Given the description of an element on the screen output the (x, y) to click on. 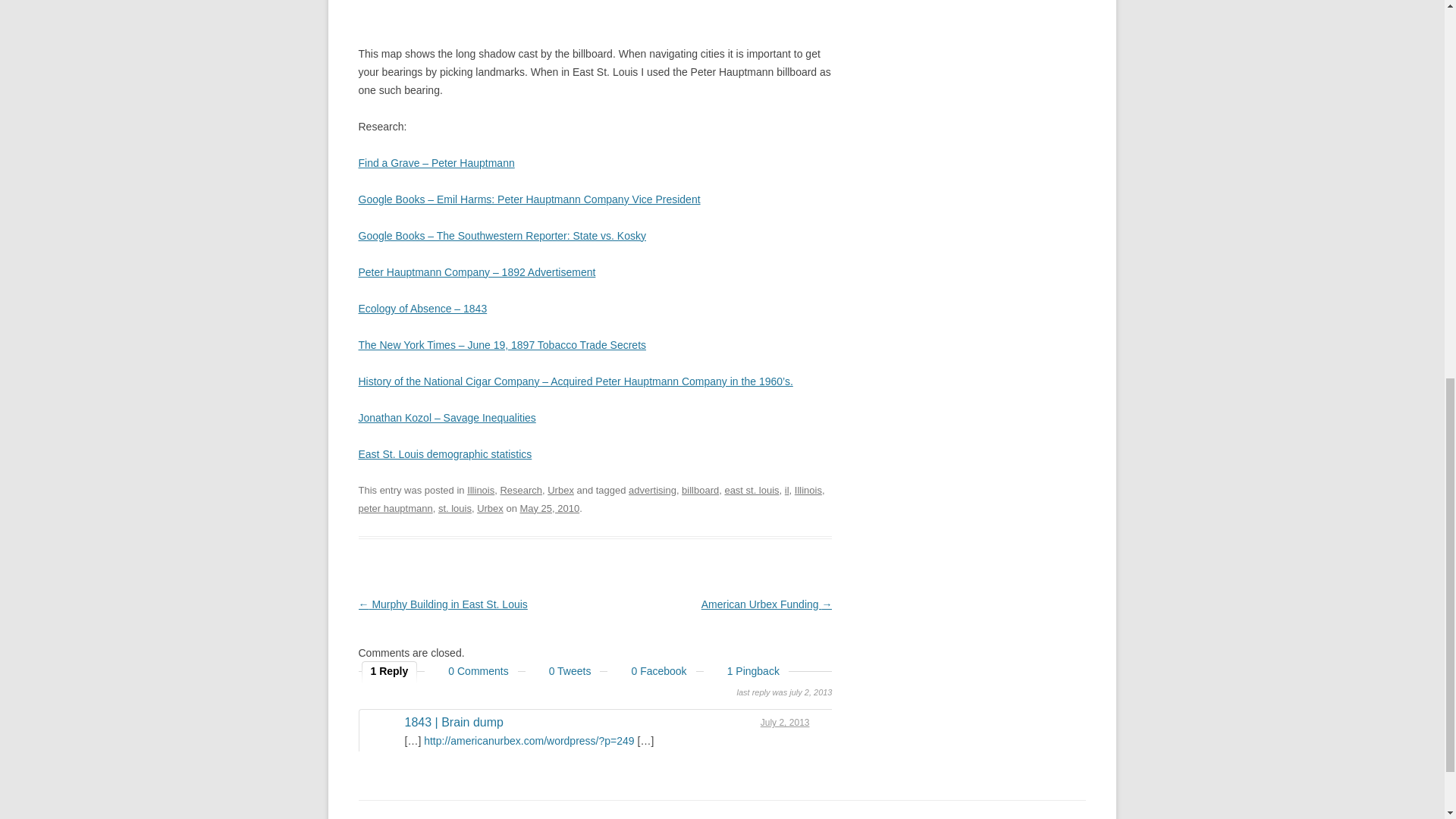
east st. louis (750, 490)
0 Comments (470, 671)
May 25, 2010 (549, 508)
7:35 am (549, 508)
East St. Louis demographic statistics (444, 453)
Illinois (481, 490)
billboard (700, 490)
1 Reply (390, 671)
Urbex (560, 490)
Illinois (808, 490)
0 Tweets (562, 671)
Urbex (490, 508)
st. louis (454, 508)
peter hauptmann (395, 508)
0 Facebook (651, 671)
